Given the description of an element on the screen output the (x, y) to click on. 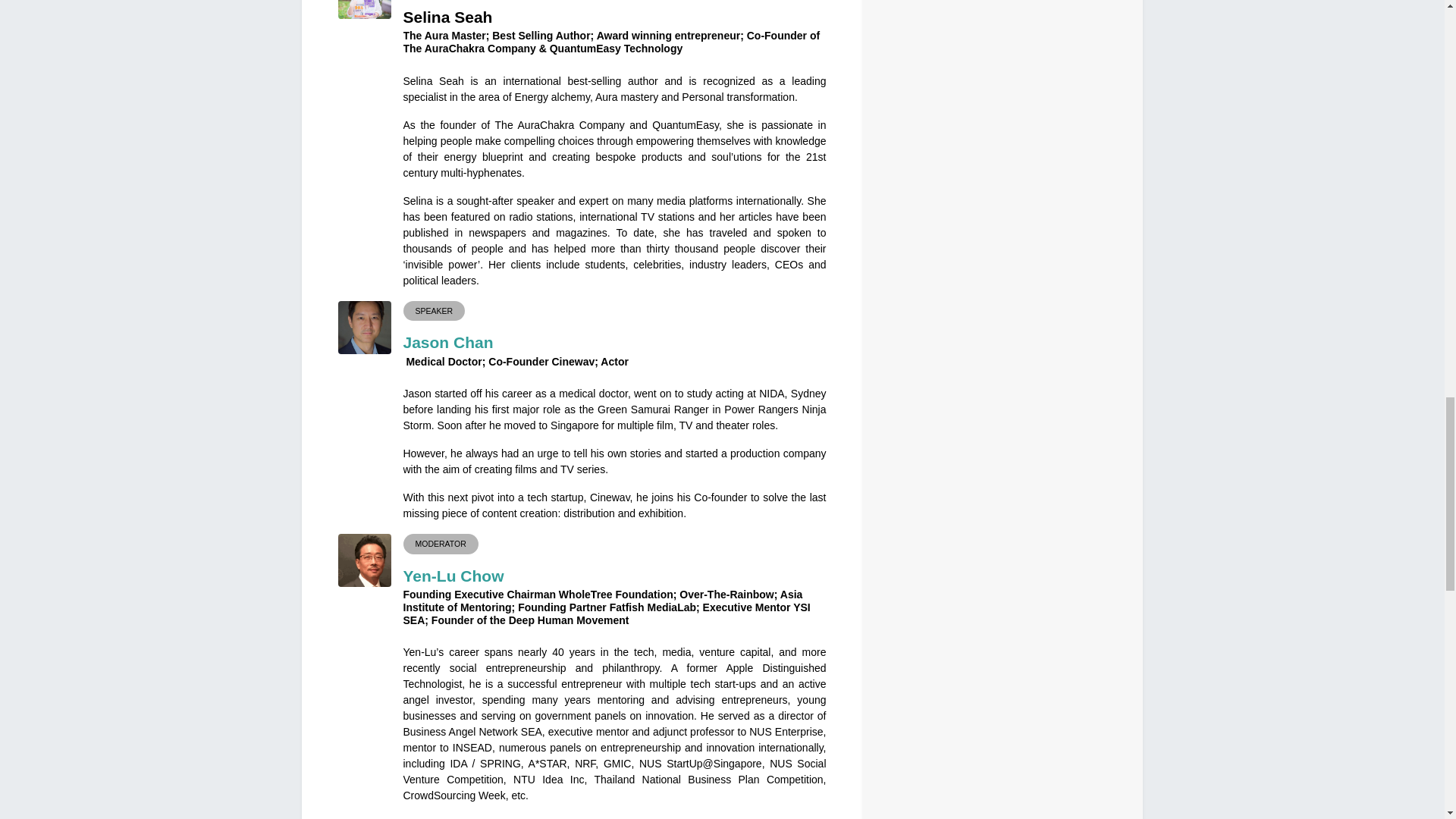
Yen-Lu Chow (453, 575)
Jason Chan (448, 342)
